Given the description of an element on the screen output the (x, y) to click on. 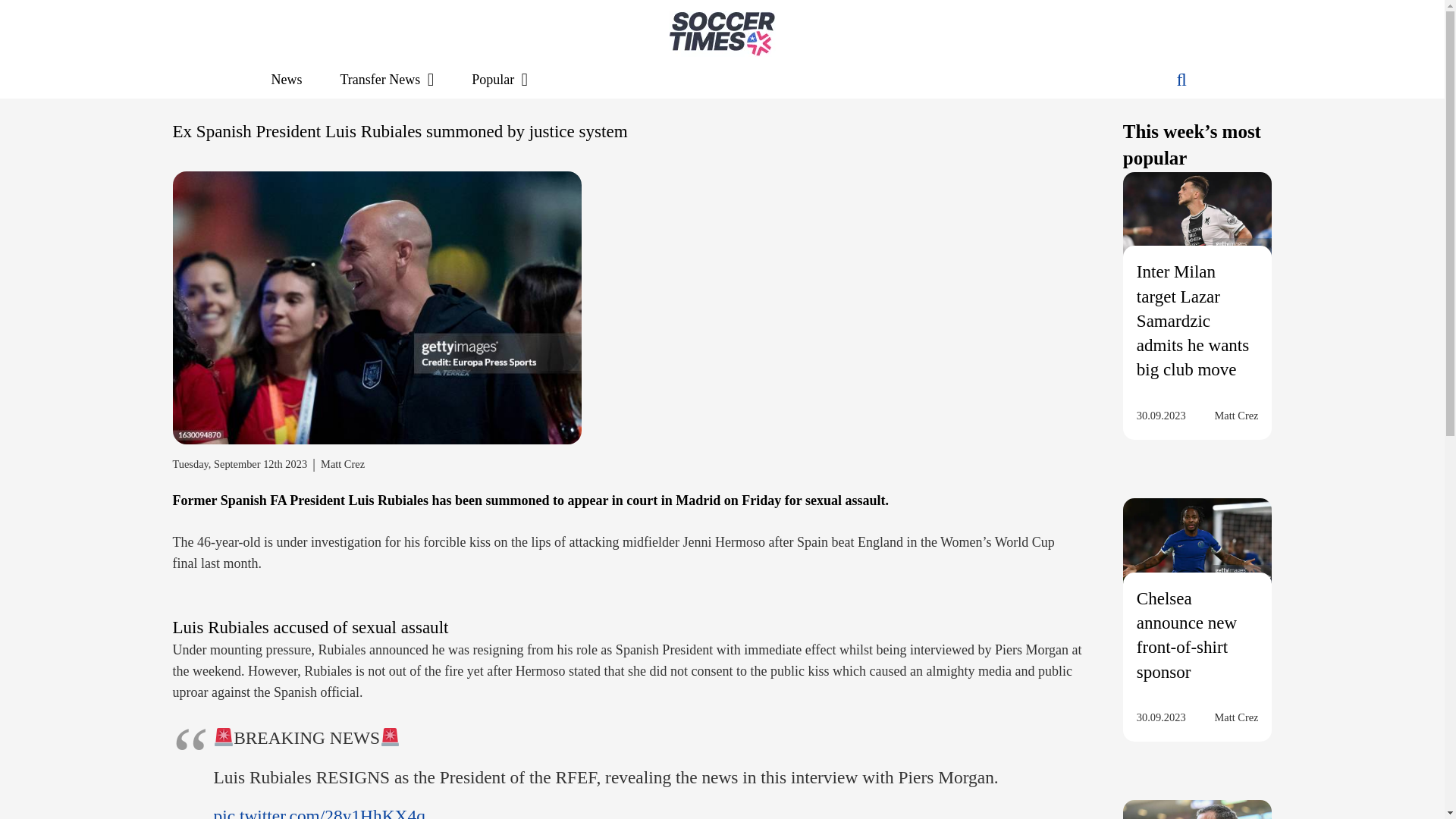
Chelsea announce new front-of-shirt sponsor (1197, 553)
Matt Crez (1236, 717)
Chelsea announce new front-of-shirt sponsor (1186, 634)
Matt Crez (342, 464)
Popular (499, 79)
Transfer News (386, 79)
RB Leipzig fire Sporting Director Max Eberl (1197, 809)
Matt Crez (1236, 414)
News (285, 79)
